Given the description of an element on the screen output the (x, y) to click on. 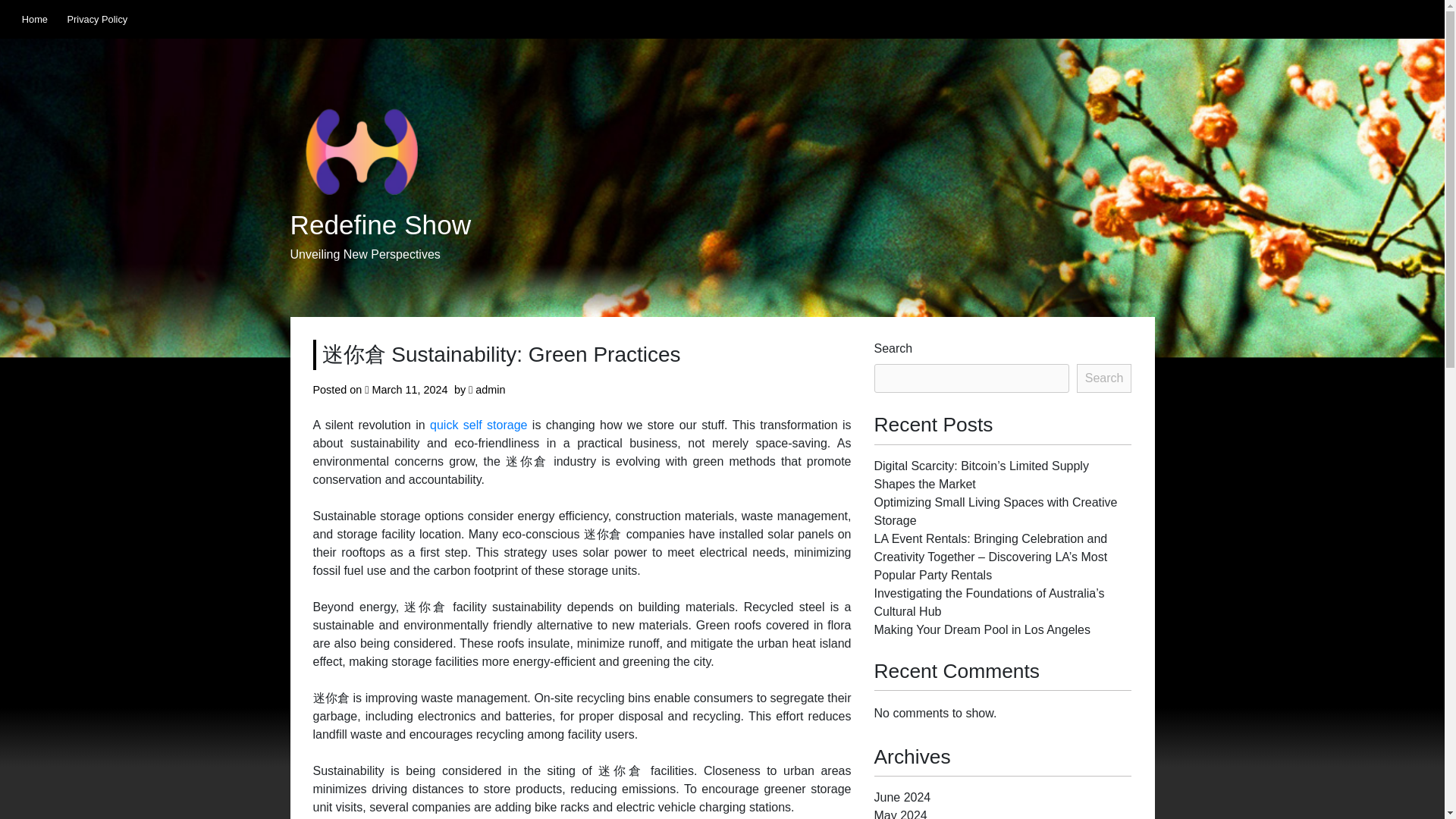
quick self storage (478, 424)
Optimizing Small Living Spaces with Creative Storage (994, 511)
Search (1104, 378)
admin (490, 389)
Home (34, 18)
June 2024 (901, 797)
March 11, 2024 (410, 389)
Privacy Policy (97, 18)
Making Your Dream Pool in Los Angeles (981, 629)
Redefine Show (379, 225)
